Given the description of an element on the screen output the (x, y) to click on. 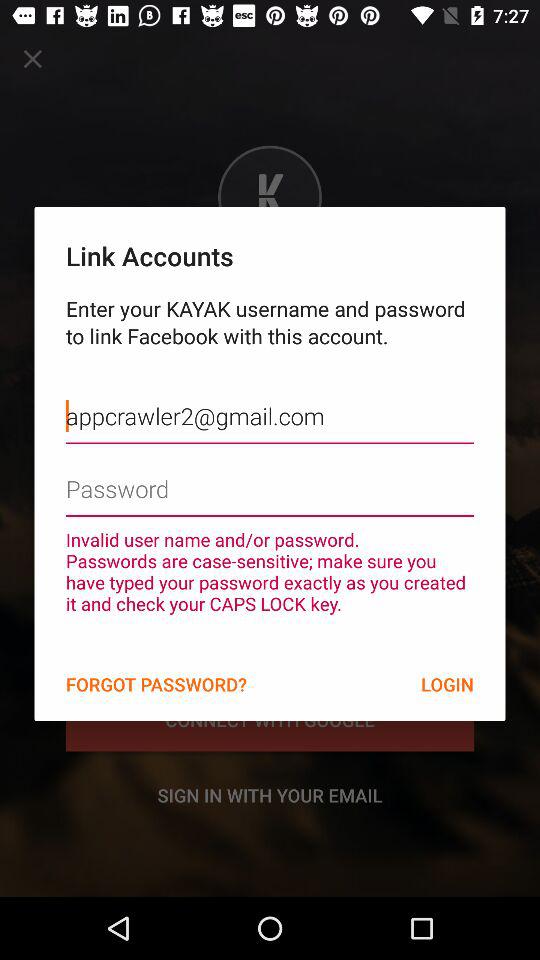
press item next to the forgot password? (447, 683)
